Given the description of an element on the screen output the (x, y) to click on. 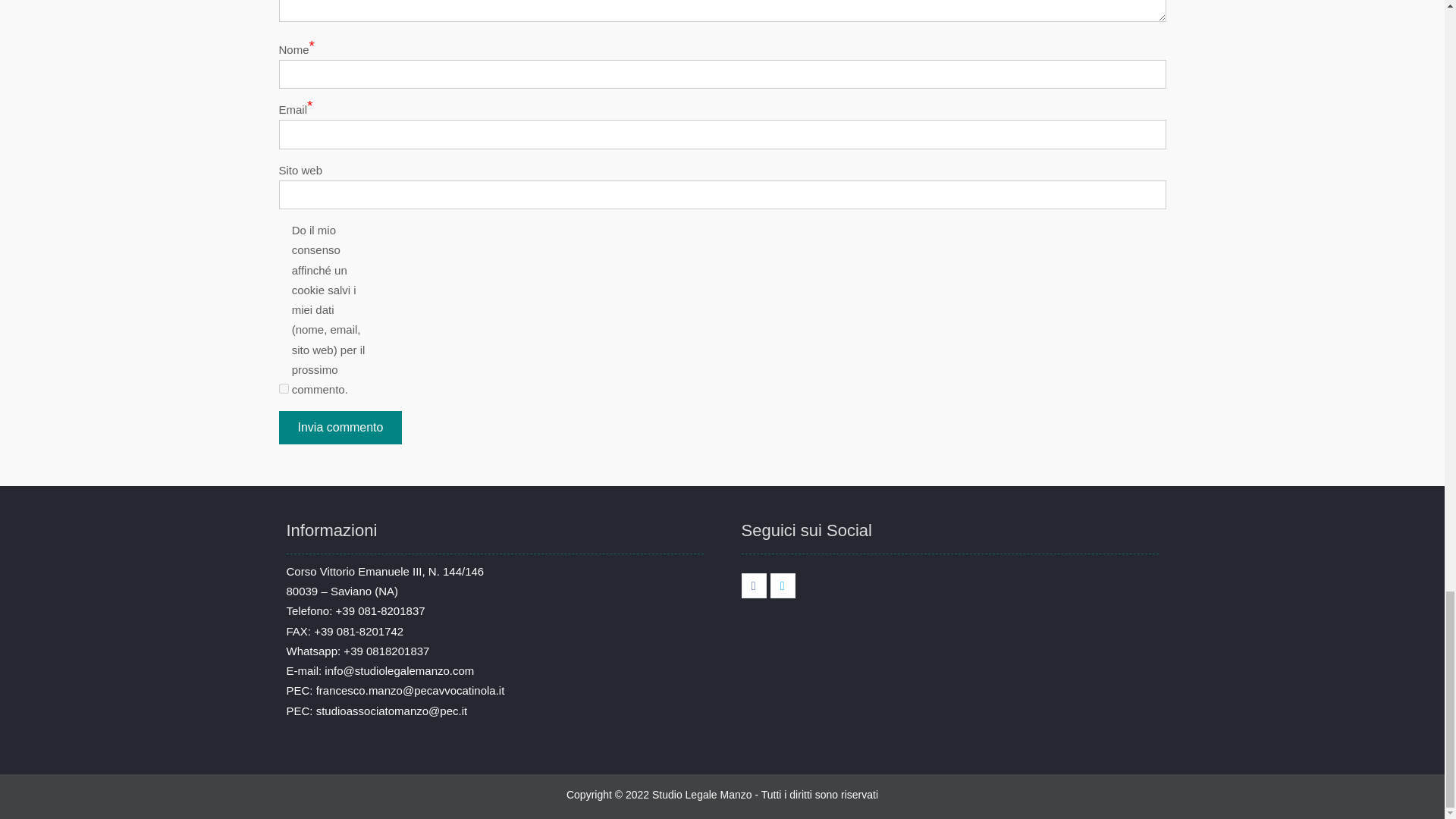
yes (283, 388)
Invia commento (341, 427)
